Given the description of an element on the screen output the (x, y) to click on. 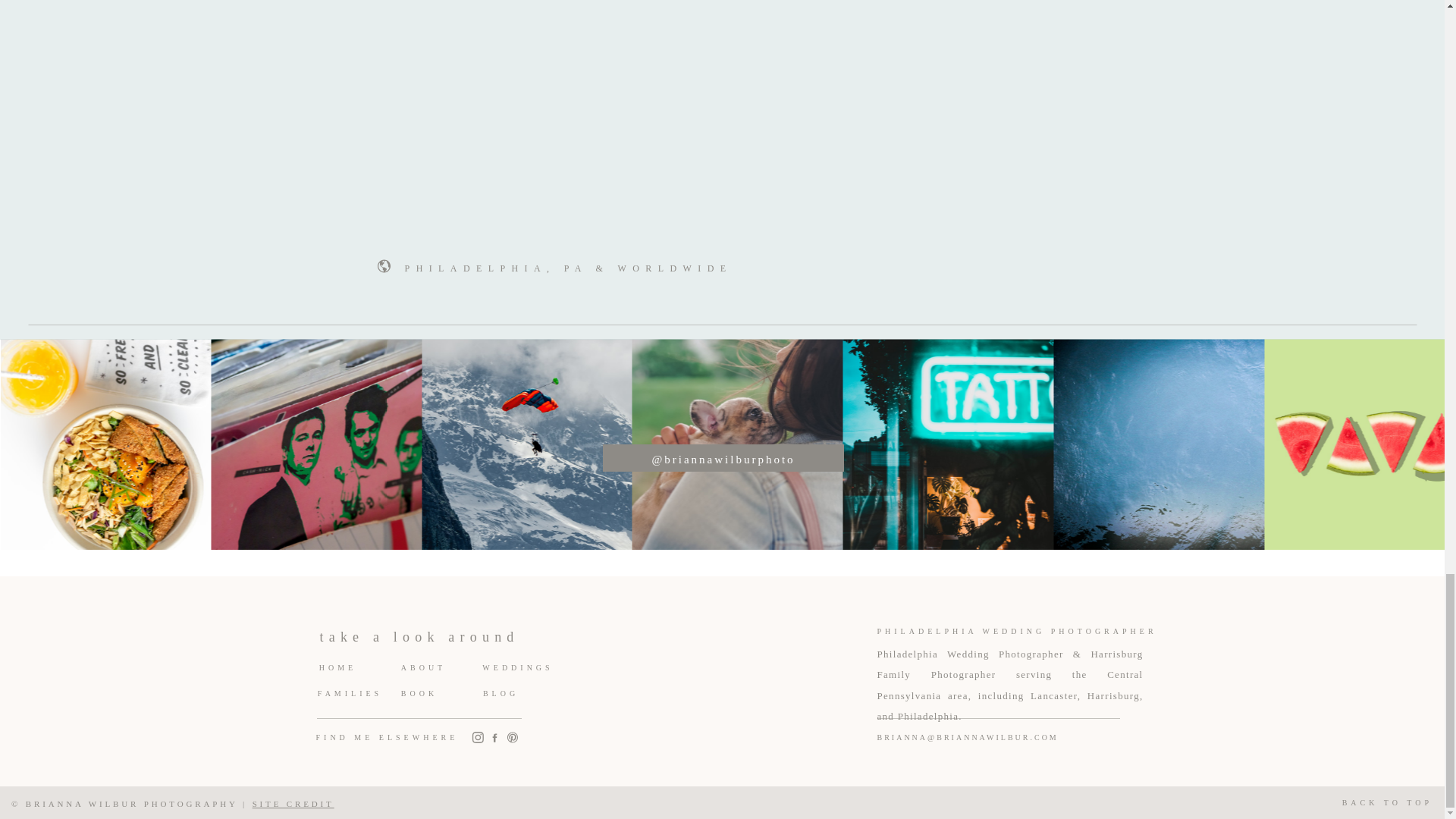
Instagram-color Created with Sketch. (477, 737)
